Given the description of an element on the screen output the (x, y) to click on. 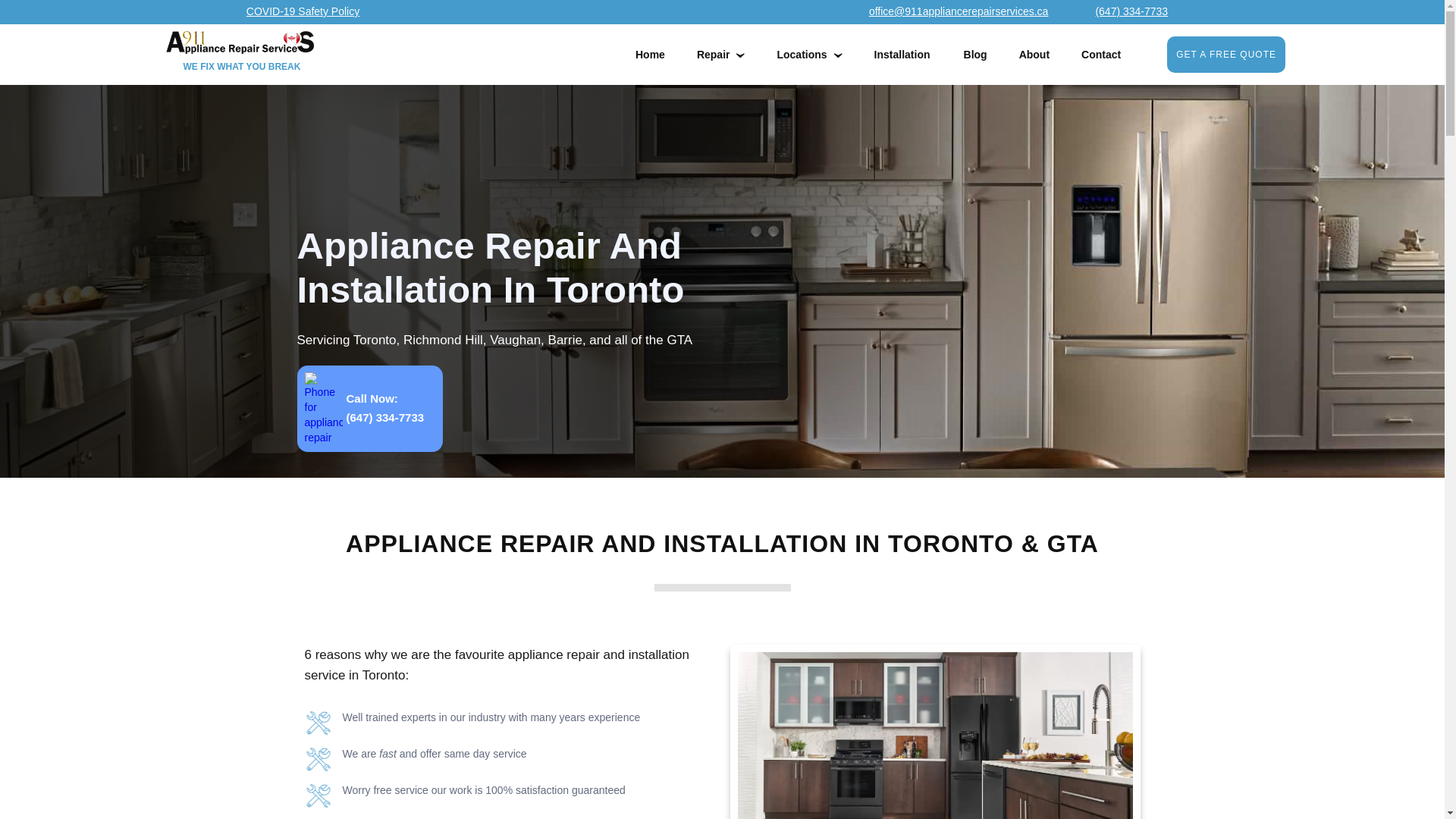
About Element type: text (1034, 54)
Contact Element type: text (1100, 54)
Home Element type: text (650, 54)
Blog Element type: text (975, 54)
Installation Element type: text (902, 54)
(647) 334-7733 Element type: text (1122, 10)
WE FIX WHAT YOU BREAK Element type: text (236, 54)
Call Now:
(647) 334-7733 Element type: text (370, 408)
GET A FREE QUOTE Element type: text (1226, 54)
office@911appliancerepairservices.ca Element type: text (950, 10)
COVID-19 Safety Policy Element type: text (302, 10)
